Given the description of an element on the screen output the (x, y) to click on. 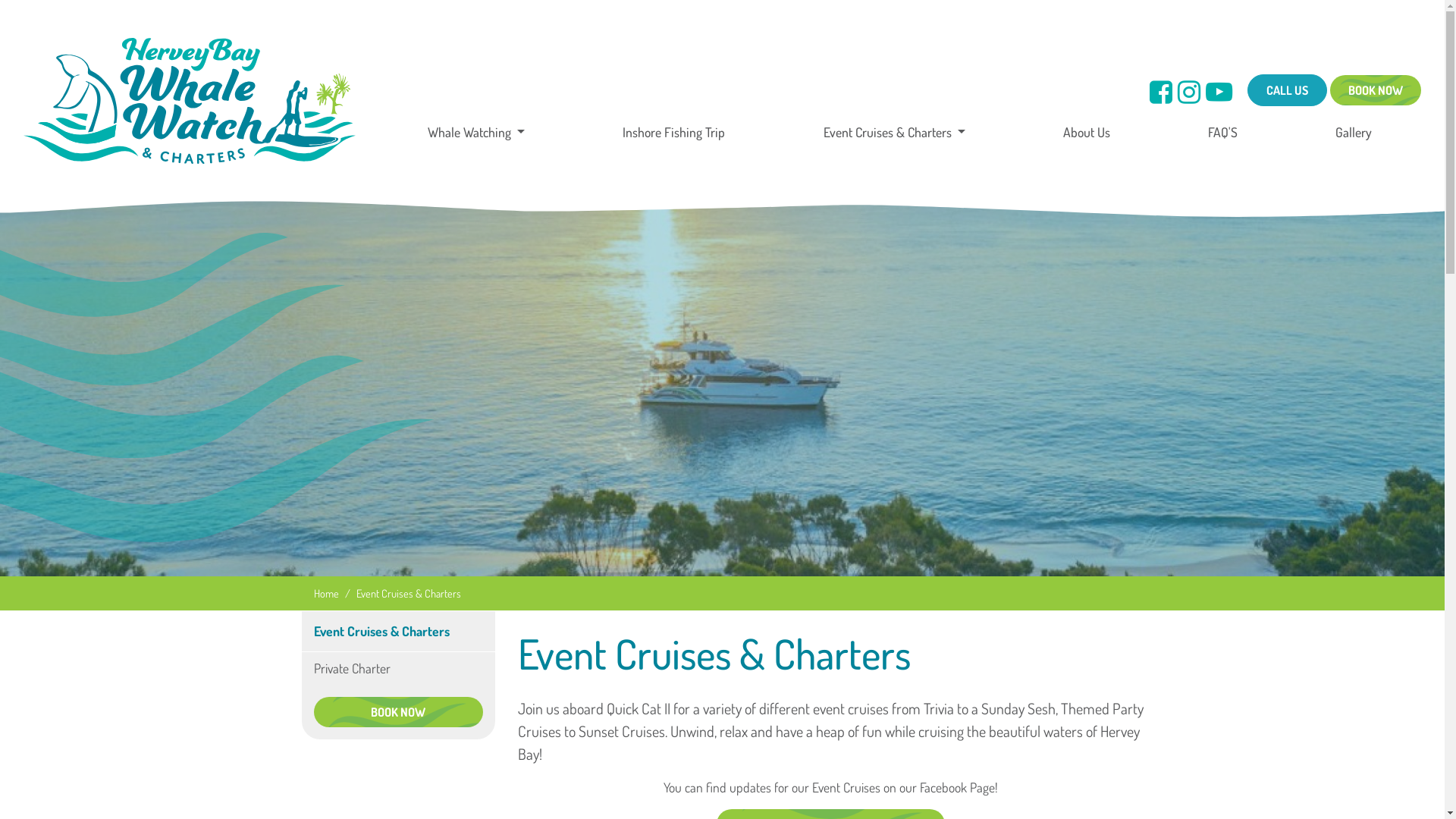
CALL US Element type: text (1287, 90)
Event Cruises & Charters Element type: text (381, 630)
Event Cruises & Charters Element type: text (894, 132)
Whale Watching Element type: text (475, 132)
FAQ'S Element type: text (1222, 132)
Inshore Fishing Trip Element type: text (673, 132)
Private Charter Element type: text (398, 668)
Gallery Element type: text (1353, 132)
BOOK NOW Element type: text (1375, 90)
BOOK NOW Element type: text (398, 711)
Home Element type: text (325, 592)
About Us Element type: text (1086, 132)
